Given the description of an element on the screen output the (x, y) to click on. 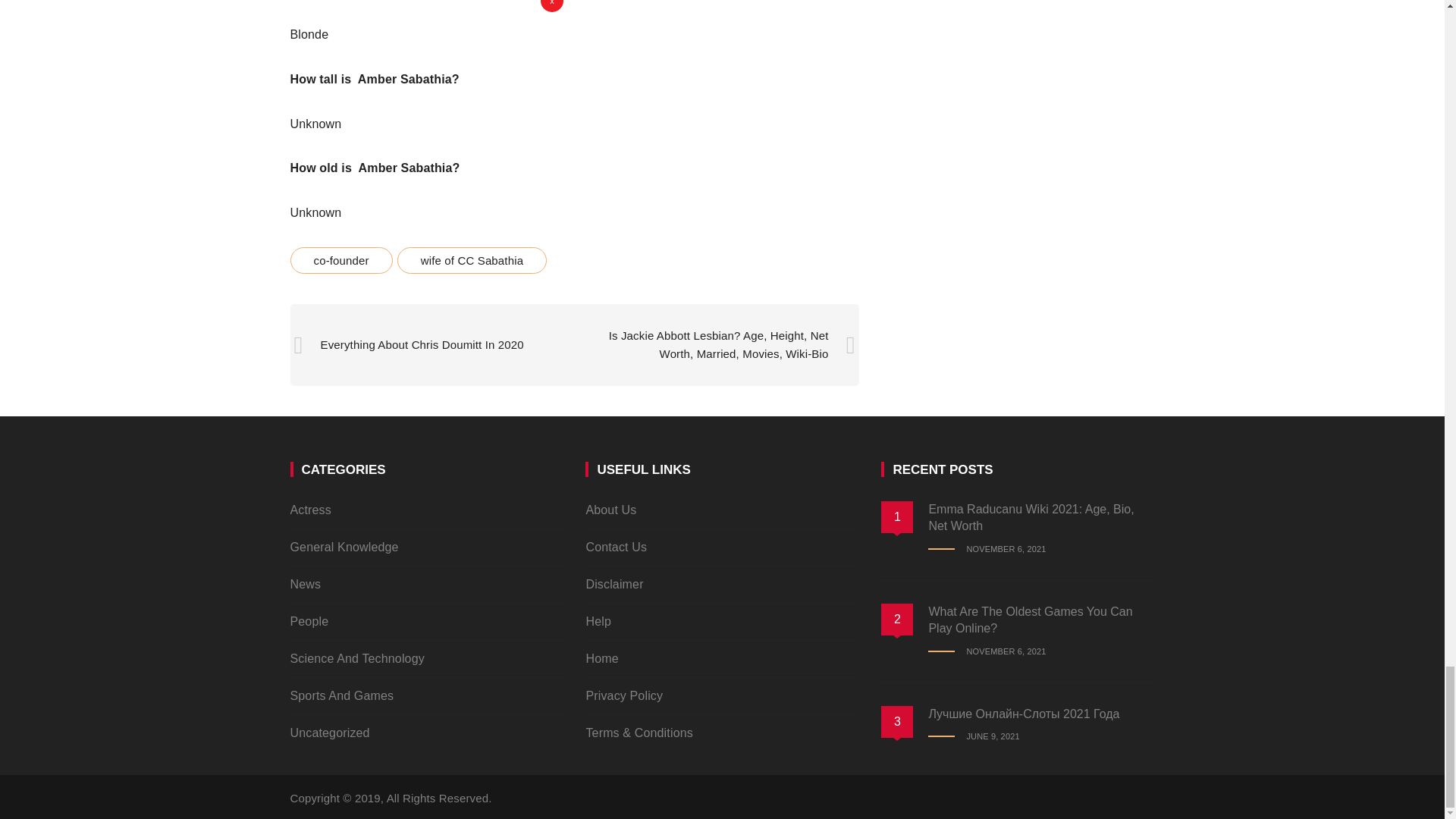
Everything About Chris Doumitt In 2020 (421, 344)
wife of CC Sabathia (472, 260)
co-founder (340, 260)
